Given the description of an element on the screen output the (x, y) to click on. 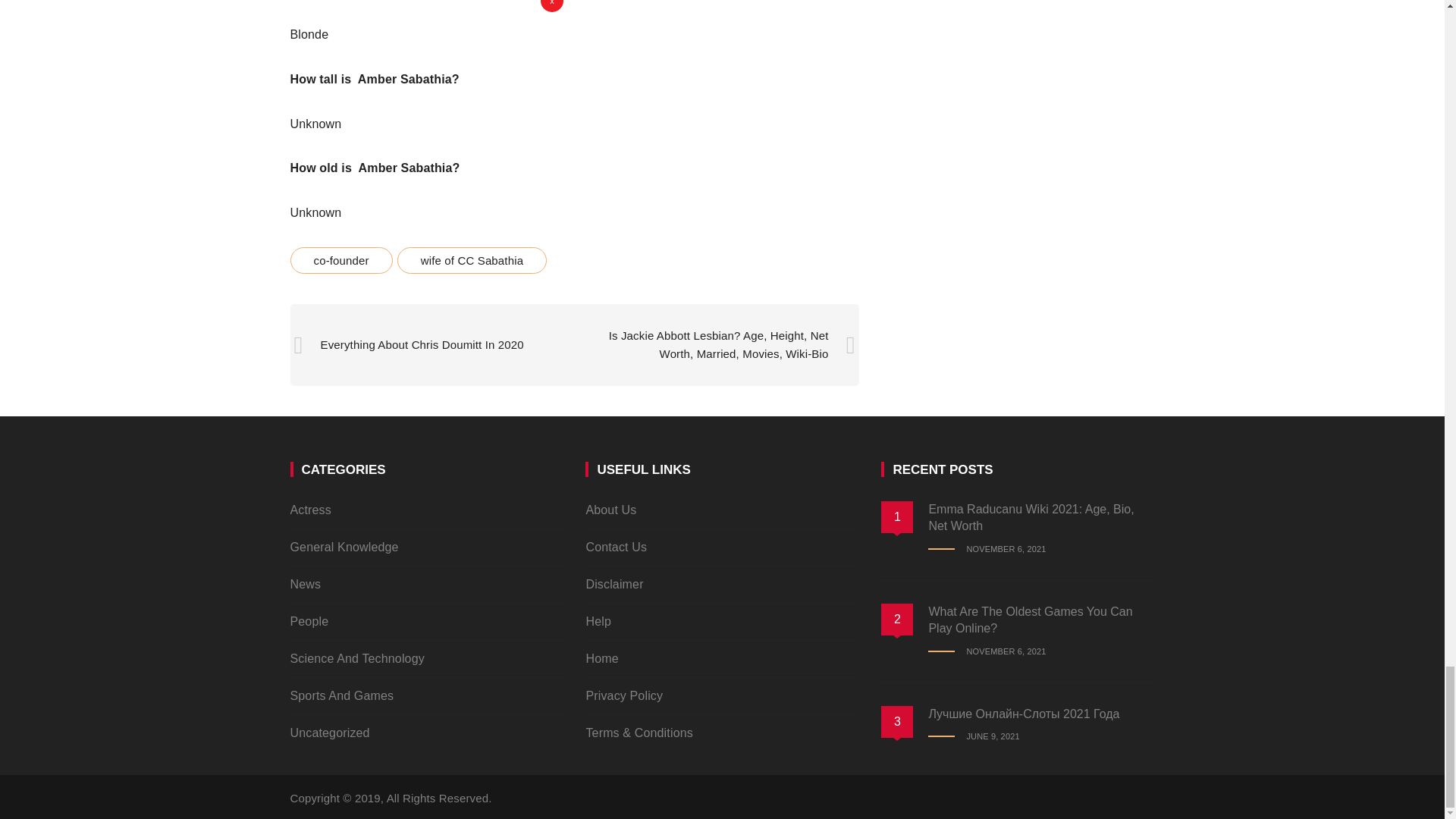
Everything About Chris Doumitt In 2020 (421, 344)
wife of CC Sabathia (472, 260)
co-founder (340, 260)
